Given the description of an element on the screen output the (x, y) to click on. 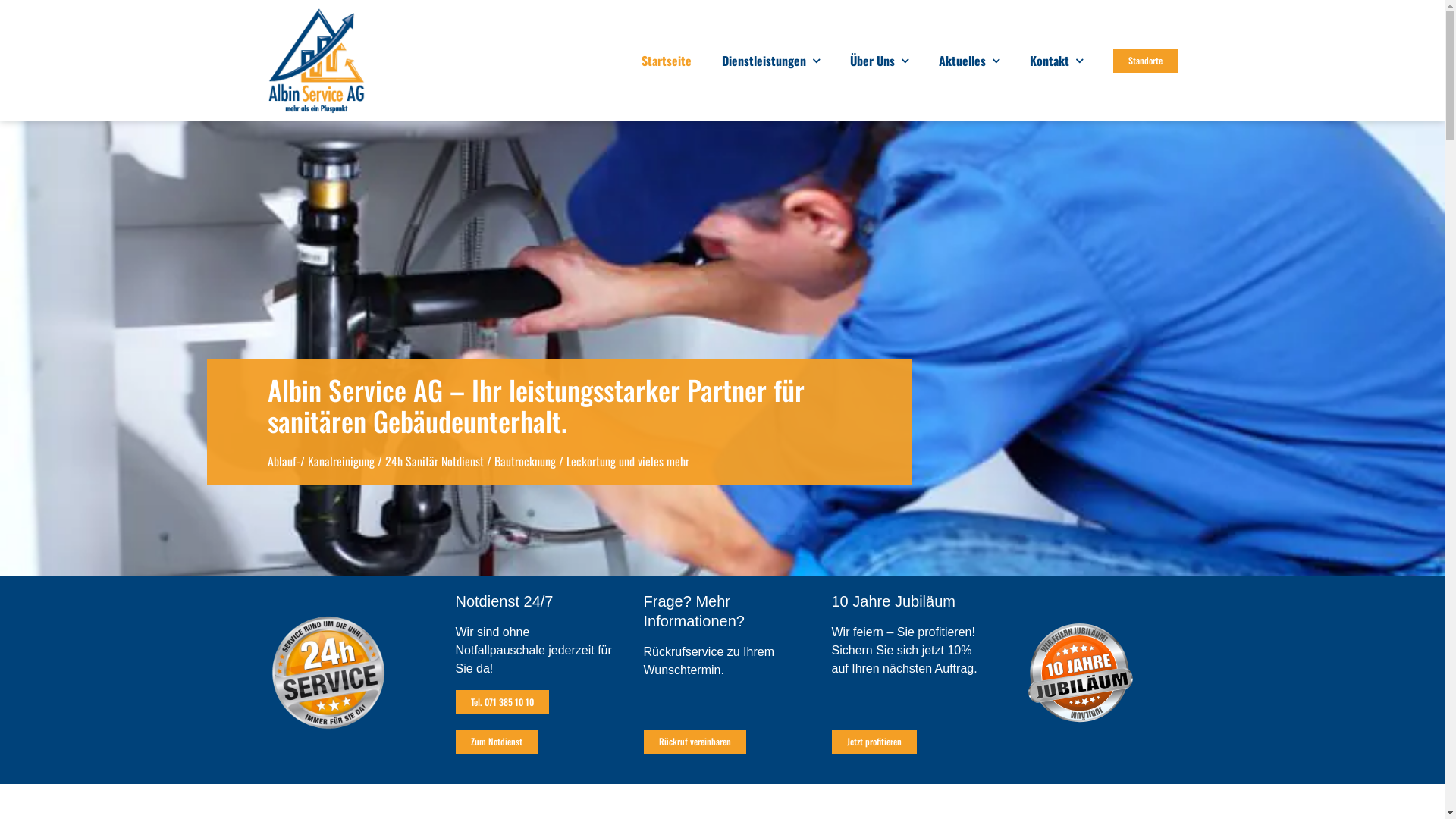
Jetzt profitieren Element type: text (873, 741)
Leckortung Element type: text (590, 460)
Standorte Element type: text (1145, 60)
Startseite Element type: text (666, 60)
Dienstleistungen Element type: text (770, 60)
Ablauf-/ Kanalreinigung Element type: text (319, 460)
Kontakt Element type: text (1055, 60)
Zum Notdienst Element type: text (495, 741)
und vieles mehr Element type: text (653, 460)
Bautrocknung Element type: text (524, 460)
Aktuelles Element type: text (968, 60)
Tel. 071 385 10 10 Element type: text (501, 702)
